Given the description of an element on the screen output the (x, y) to click on. 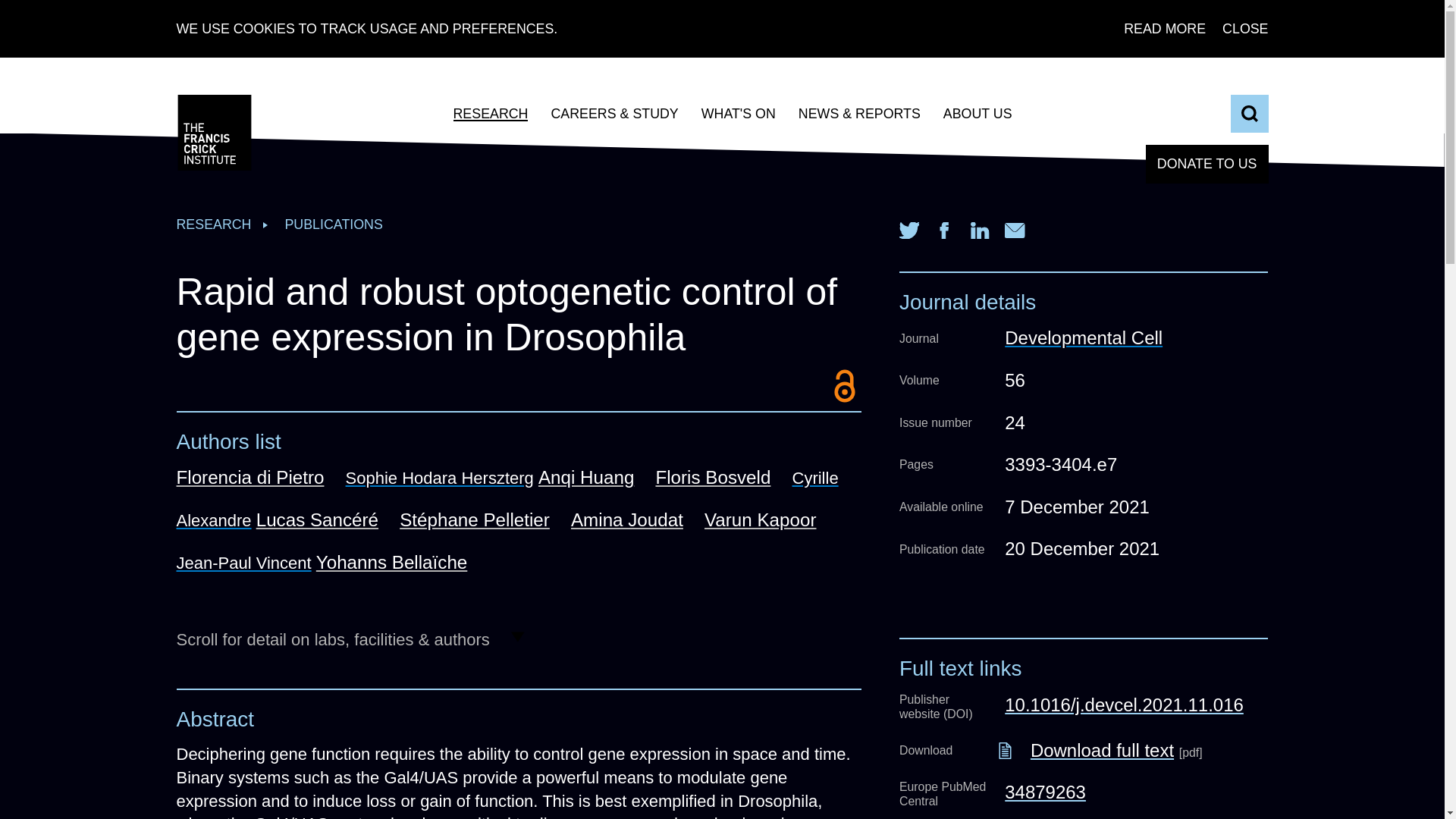
READ MORE (1164, 28)
CLOSE (1245, 28)
RESEARCH (489, 114)
WHAT'S ON (738, 114)
